Given the description of an element on the screen output the (x, y) to click on. 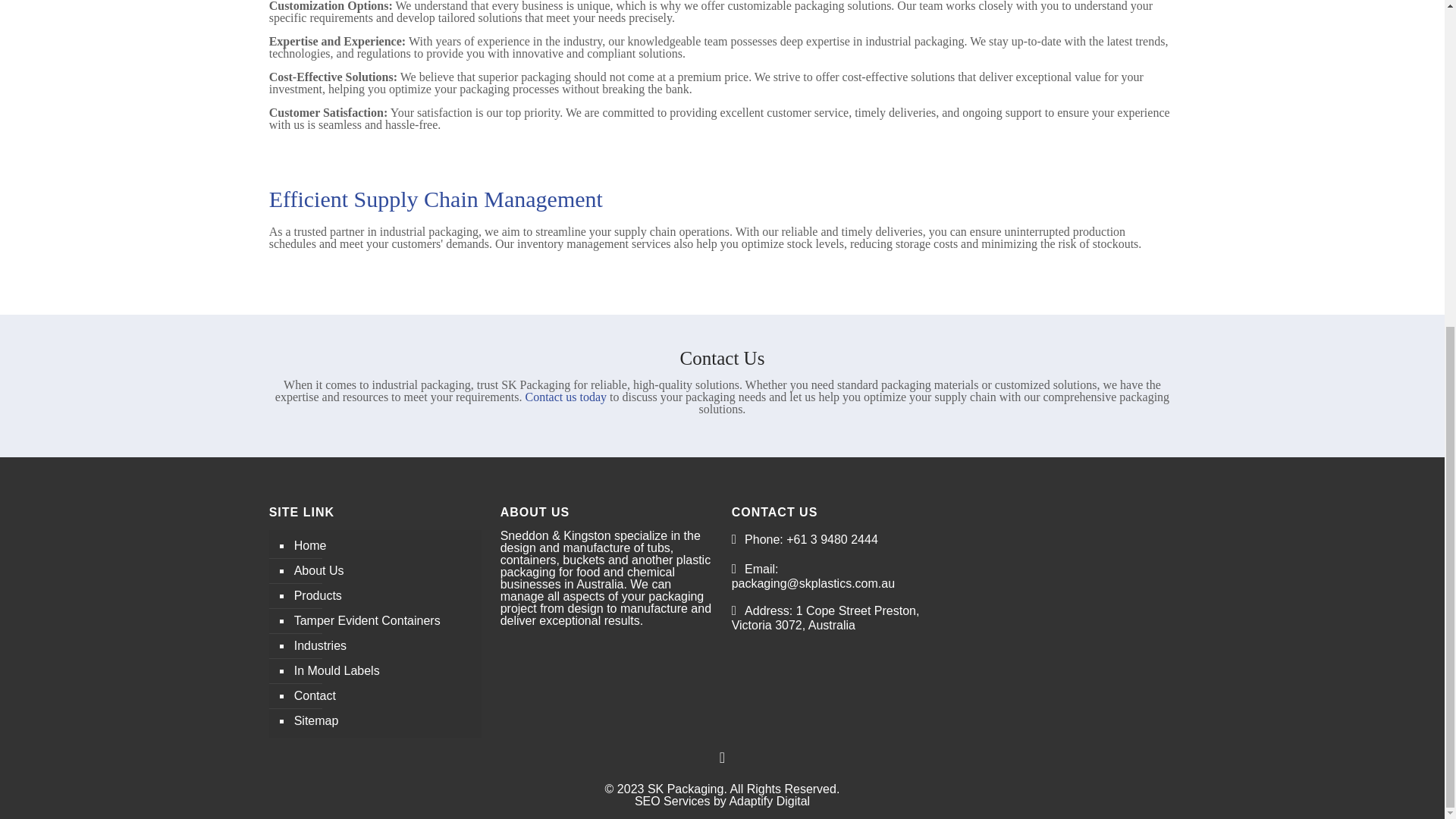
Products (383, 596)
Contact us today (565, 396)
Home (383, 545)
About Us (383, 570)
